Given the description of an element on the screen output the (x, y) to click on. 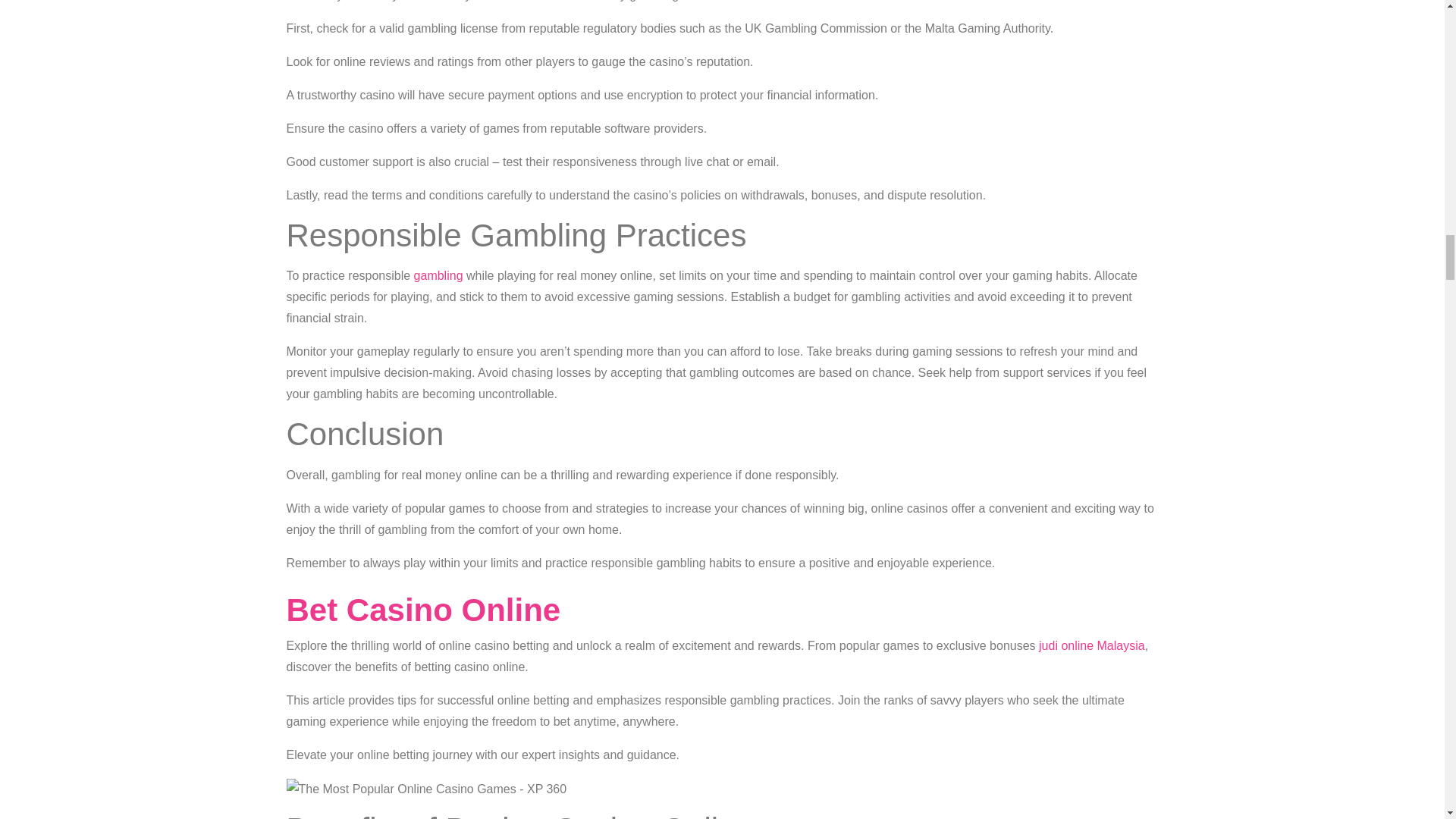
judi online Malaysia (1091, 645)
Bet Casino Online (423, 610)
gambling (438, 275)
